Given the description of an element on the screen output the (x, y) to click on. 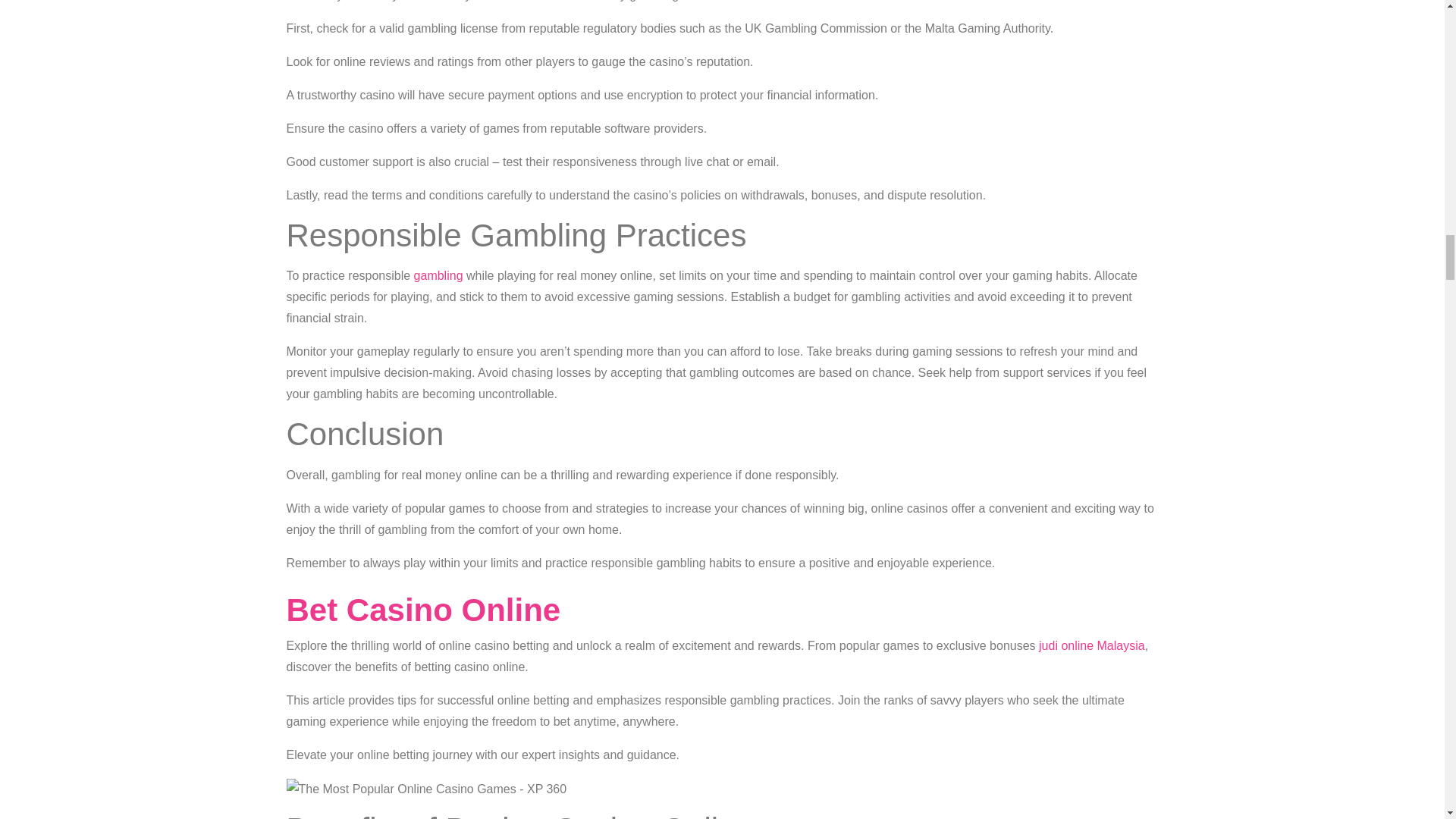
judi online Malaysia (1091, 645)
Bet Casino Online (423, 610)
gambling (438, 275)
